Given the description of an element on the screen output the (x, y) to click on. 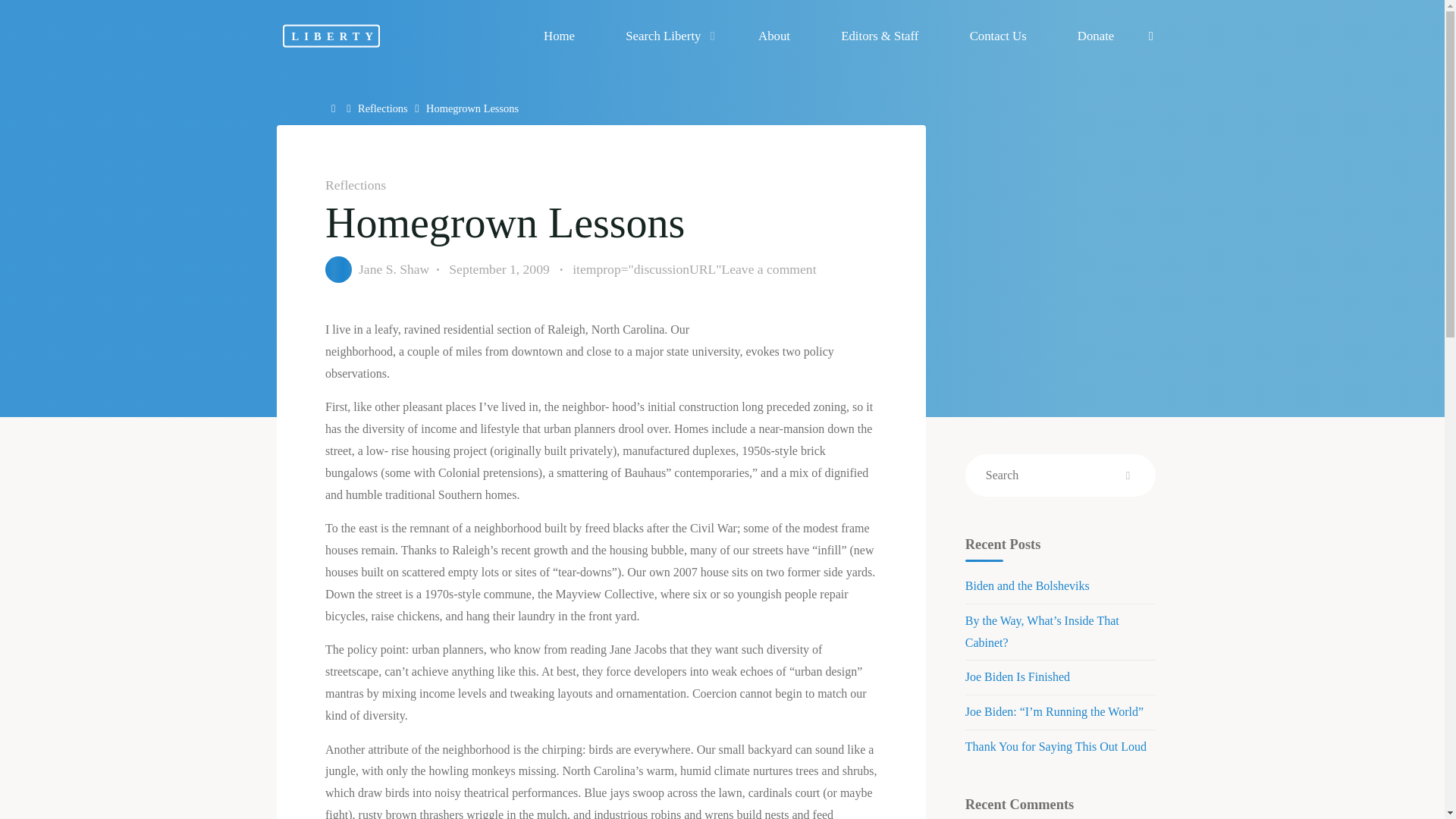
Home (334, 108)
Home (558, 35)
Donate (1095, 35)
View all posts by Jane S. Shaw (393, 268)
About (773, 35)
Contact Us (997, 35)
LIBERTY (331, 35)
Search Liberty (666, 35)
Jump to comments (693, 269)
Reflections (382, 108)
